Given the description of an element on the screen output the (x, y) to click on. 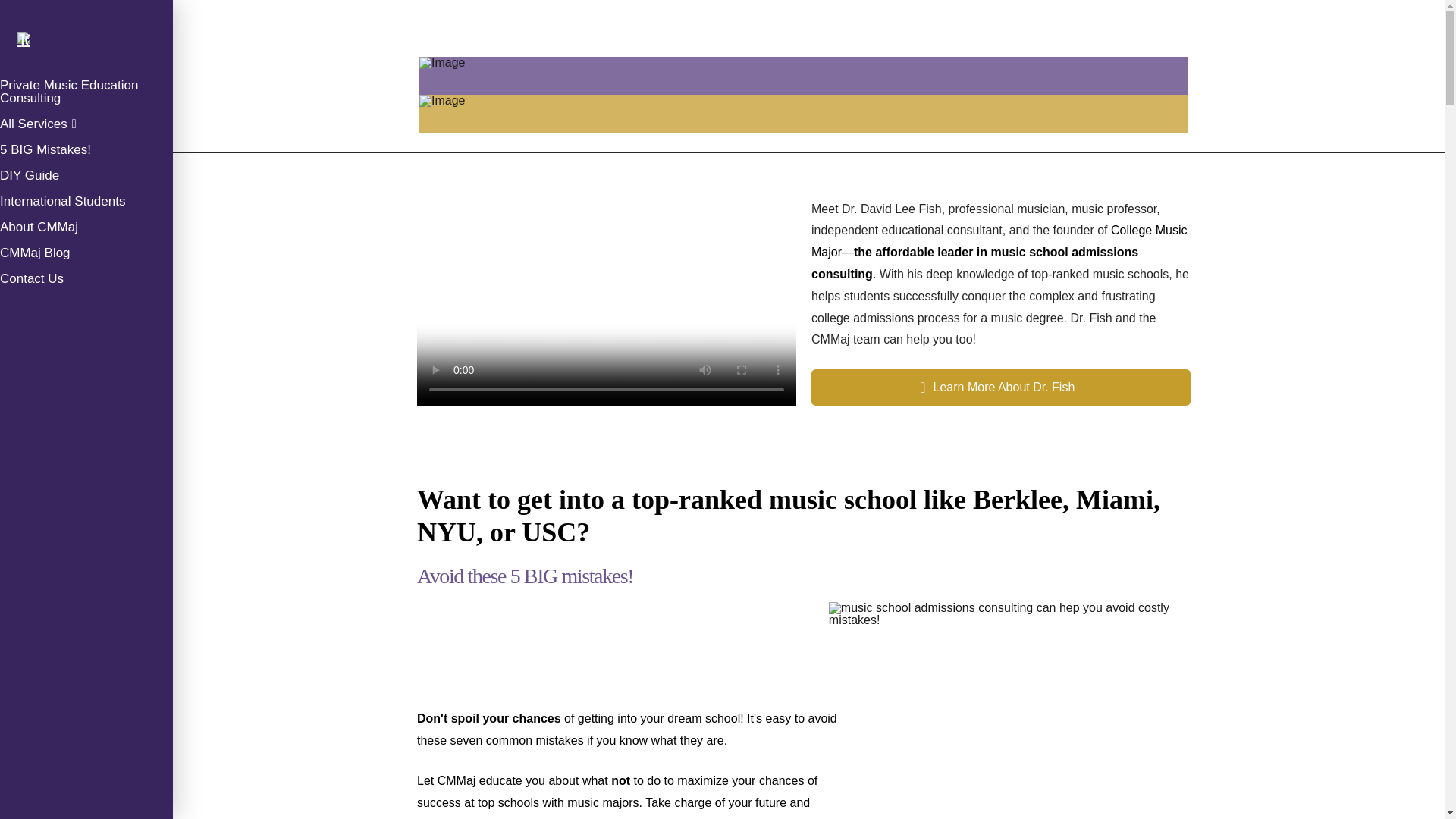
5 BIG Mistakes! (86, 151)
About CMMaj (86, 228)
CMMaj Blog (86, 254)
Private Music Education Consulting (86, 93)
All Services (86, 125)
Contact Us (86, 280)
DIY Guide (86, 177)
International Students (86, 203)
Learn More About Dr. Fish (1000, 387)
